Given the description of an element on the screen output the (x, y) to click on. 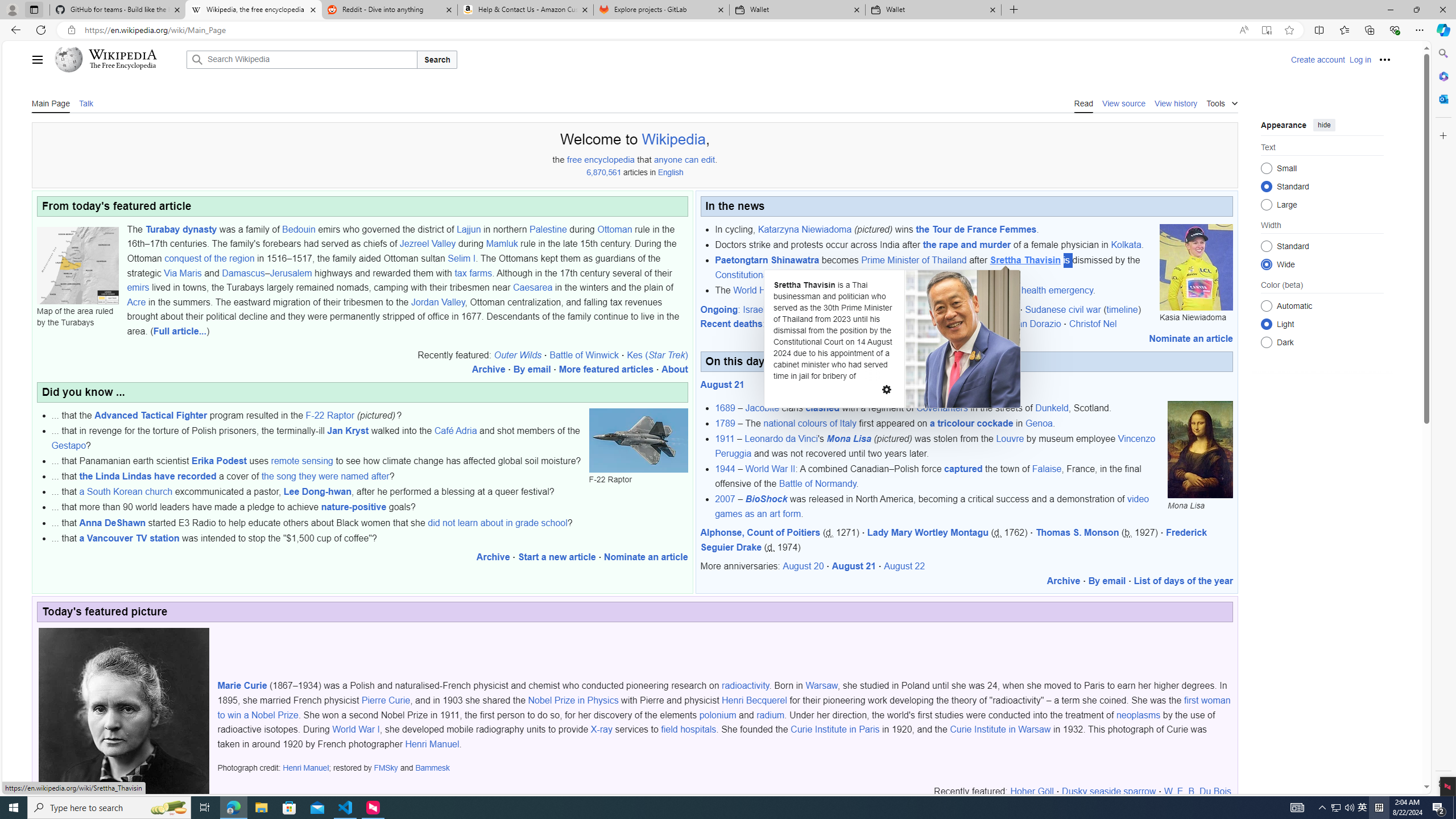
a South Korean church (125, 491)
encyclopedia (608, 159)
Covenanters (941, 407)
Genoa (1038, 423)
Dark (1266, 341)
Falaise (1046, 469)
Alphonse, Count of Poitiers (760, 532)
captured (962, 469)
Start a new article (555, 557)
BioShock (766, 498)
Wikipedia, the free encyclopedia (253, 9)
